Given the description of an element on the screen output the (x, y) to click on. 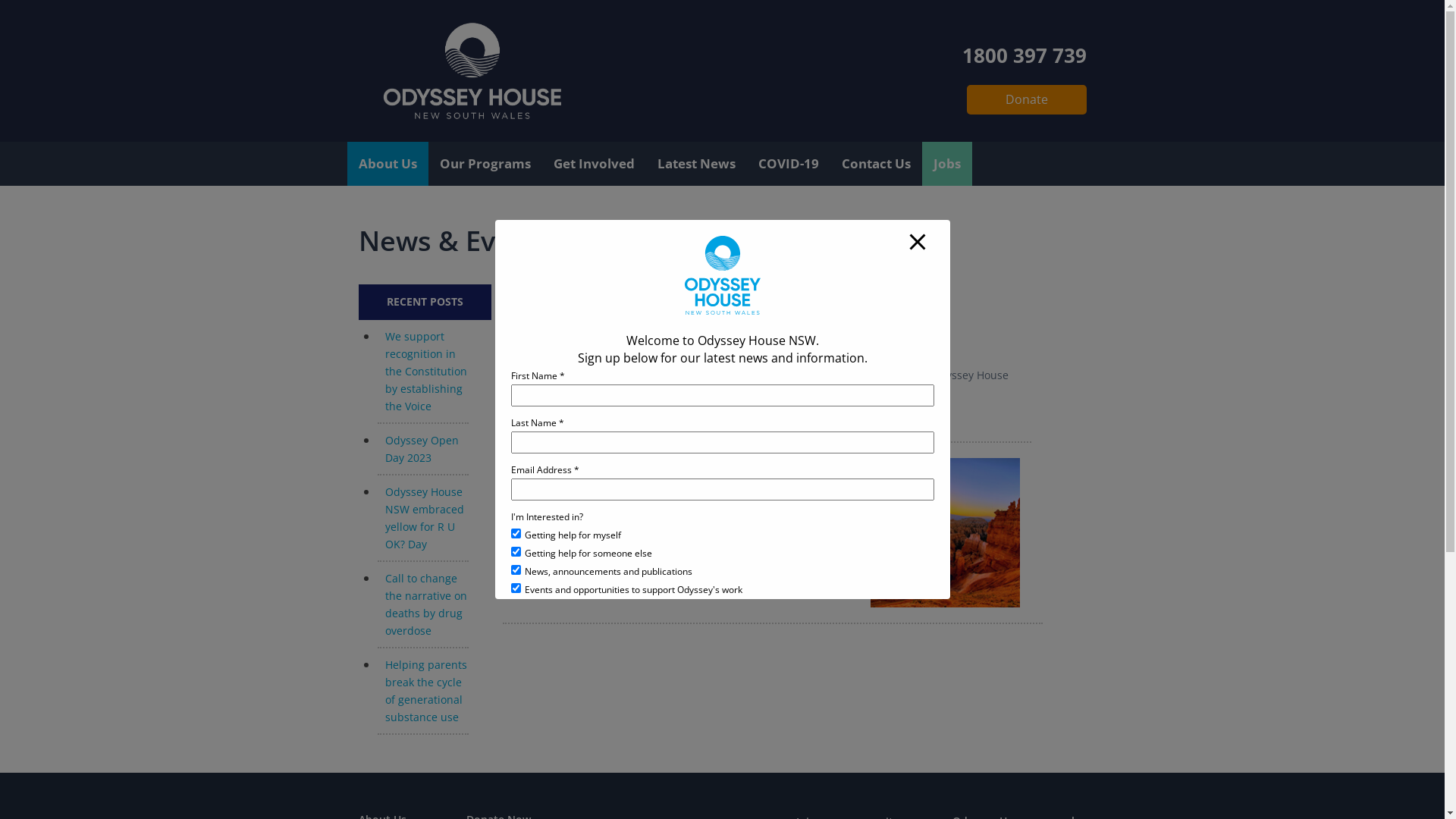
COVID-19 Element type: text (787, 163)
Donate Element type: text (1025, 99)
Subscribe Element type: text (722, 633)
Latest News Element type: text (696, 163)
1800 397 739 Element type: text (1023, 51)
Our Programs Element type: text (484, 163)
Jobs Element type: text (947, 163)
Get Involved Element type: text (593, 163)
Read More... Element type: text (546, 562)
Contact Us Element type: text (875, 163)
About Us Element type: text (387, 163)
Call to change the narrative on deaths by drug overdose Element type: text (426, 604)
Thank you for your support! Element type: text (619, 330)
Odyssey Open Day 2023 Element type: text (421, 448)
Read More... Element type: text (546, 421)
Odyssey House NSW embraced yellow for R U OK? Day Element type: text (424, 517)
